Given the description of an element on the screen output the (x, y) to click on. 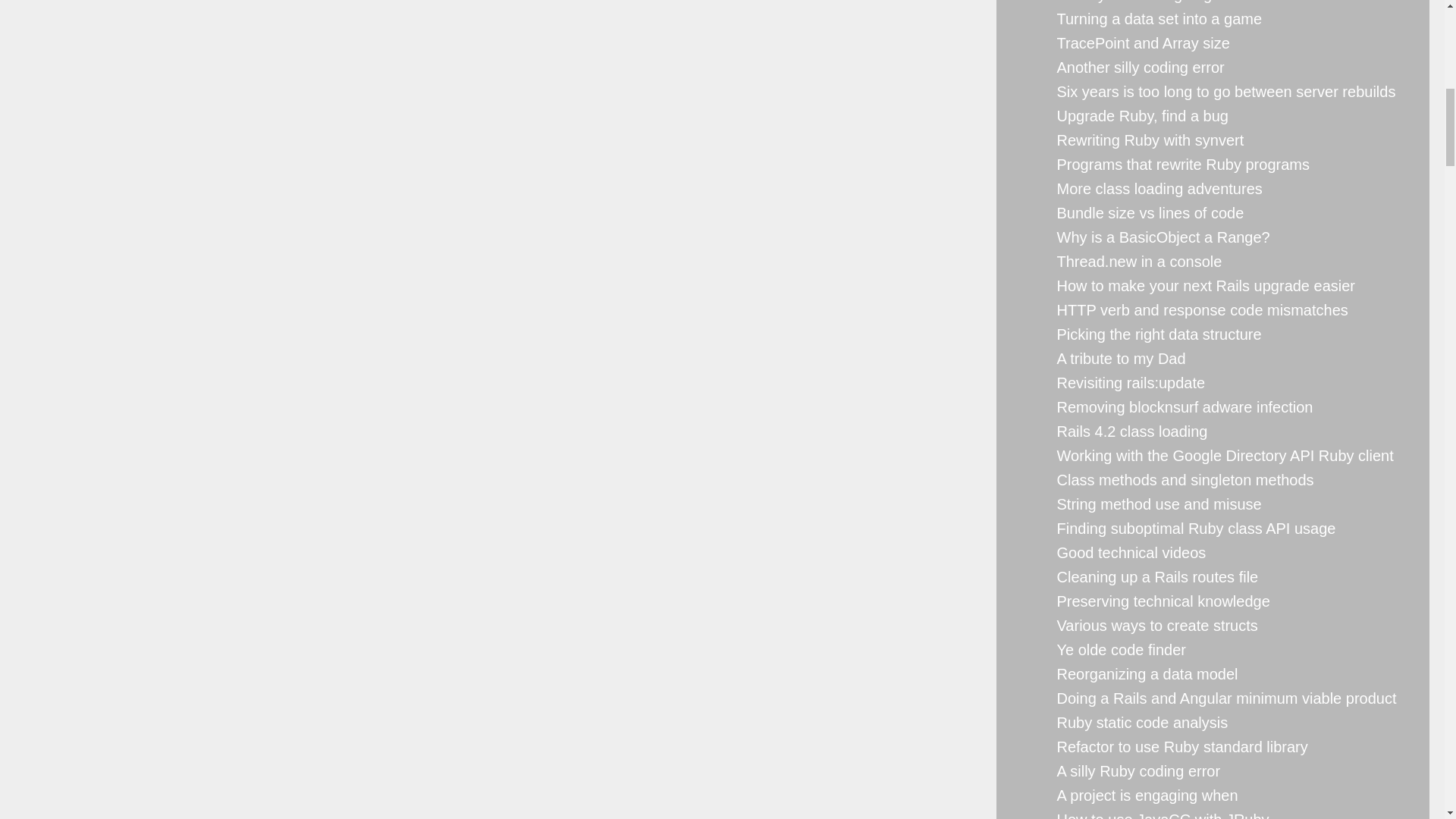
Thread.new in a console (1140, 261)
HTTP verb and response code mismatches (1202, 310)
Upgrade Ruby, find a bug (1142, 115)
Revisiting rails:update (1131, 382)
Turning a data set into a game (1159, 18)
A Ruby shadowing bug in the wild (1170, 1)
How to make your next Rails upgrade easier (1206, 285)
Rewriting Ruby with synvert (1150, 139)
Picking the right data structure (1159, 334)
Bundle size vs lines of code (1150, 212)
Programs that rewrite Ruby programs (1182, 164)
Why is a BasicObject a Range? (1163, 237)
Removing blocknsurf adware infection (1185, 406)
More class loading adventures (1159, 188)
A tribute to my Dad (1121, 358)
